Given the description of an element on the screen output the (x, y) to click on. 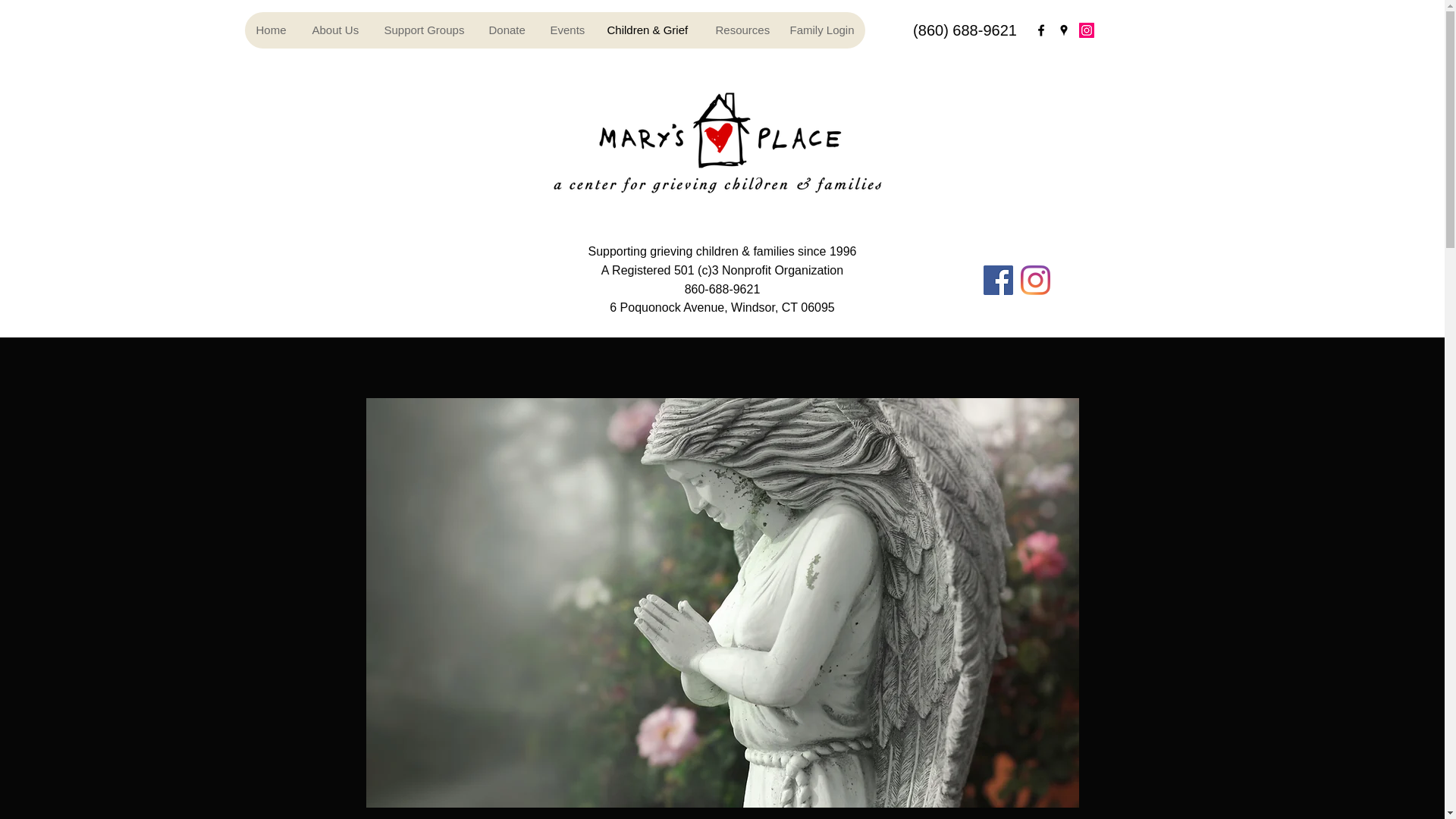
About Us (335, 30)
Resources (740, 30)
Donate (506, 30)
Support Groups (423, 30)
Family Login (820, 30)
Home (271, 30)
Events (566, 30)
